Given the description of an element on the screen output the (x, y) to click on. 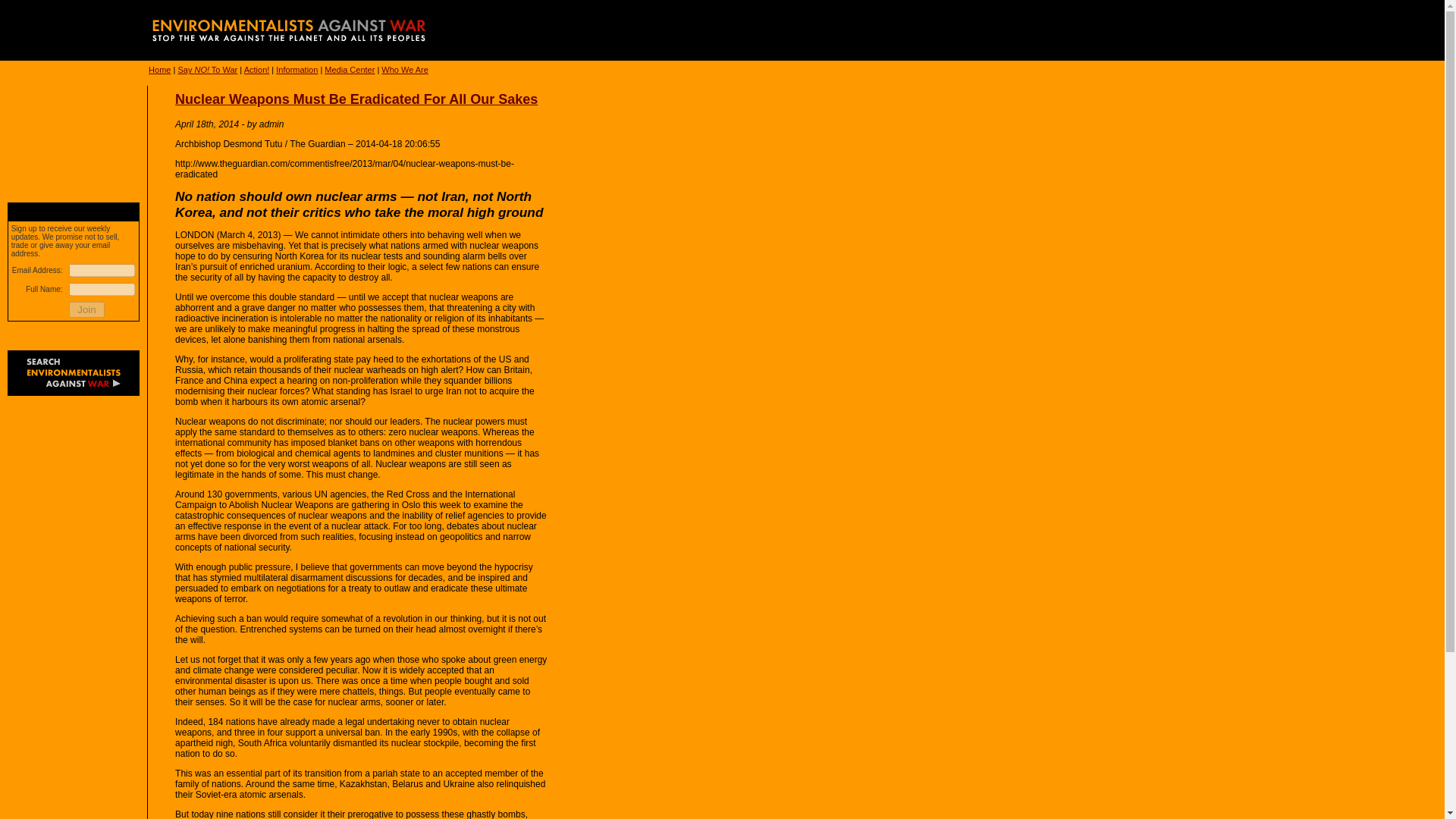
 Join  (86, 309)
Say NO! To War (207, 69)
Nuclear Weapons Must Be Eradicated For All Our Sakes (355, 99)
Action! (256, 69)
Media Center (349, 69)
 Join  (86, 309)
Who We Are (404, 69)
Information (296, 69)
Home (159, 69)
